Given the description of an element on the screen output the (x, y) to click on. 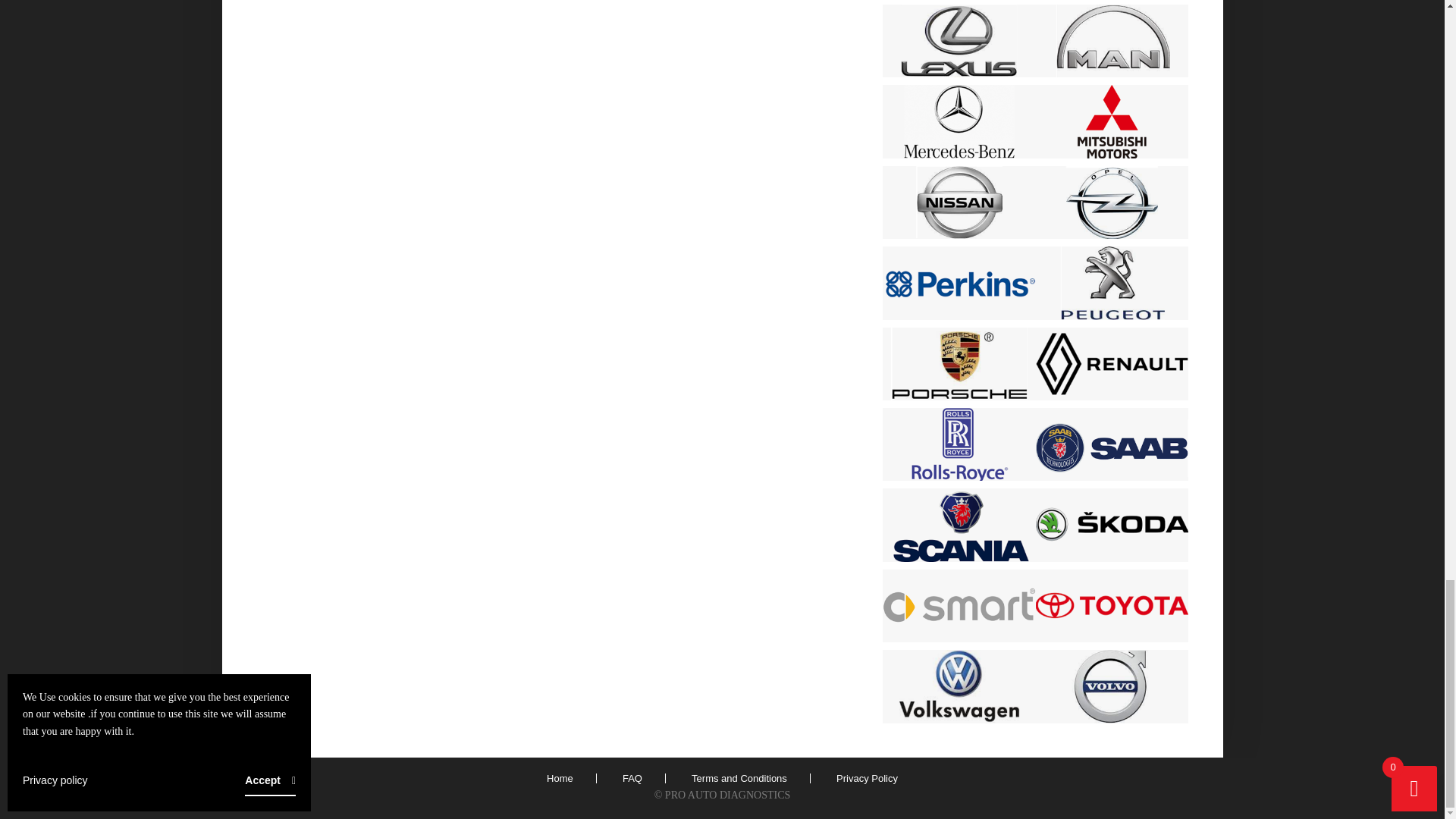
Home (560, 778)
